Given the description of an element on the screen output the (x, y) to click on. 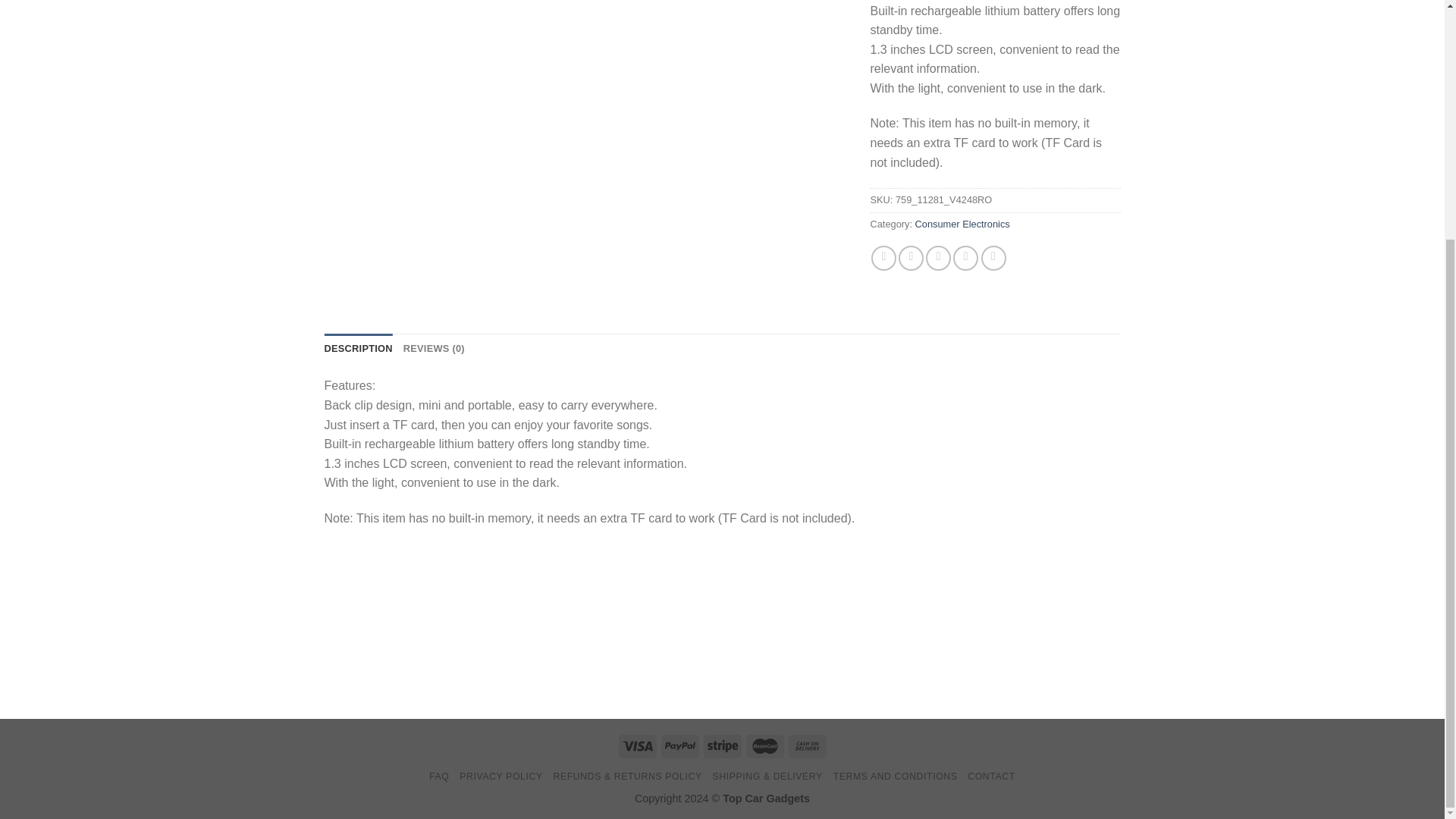
PRIVACY POLICY (500, 776)
Share on Facebook (883, 258)
FAQ (438, 776)
Share on Tumblr (993, 258)
Share on Twitter (910, 258)
Email to a Friend (938, 258)
DESCRIPTION (358, 348)
Pin on Pinterest (965, 258)
Consumer Electronics (962, 224)
